Given the description of an element on the screen output the (x, y) to click on. 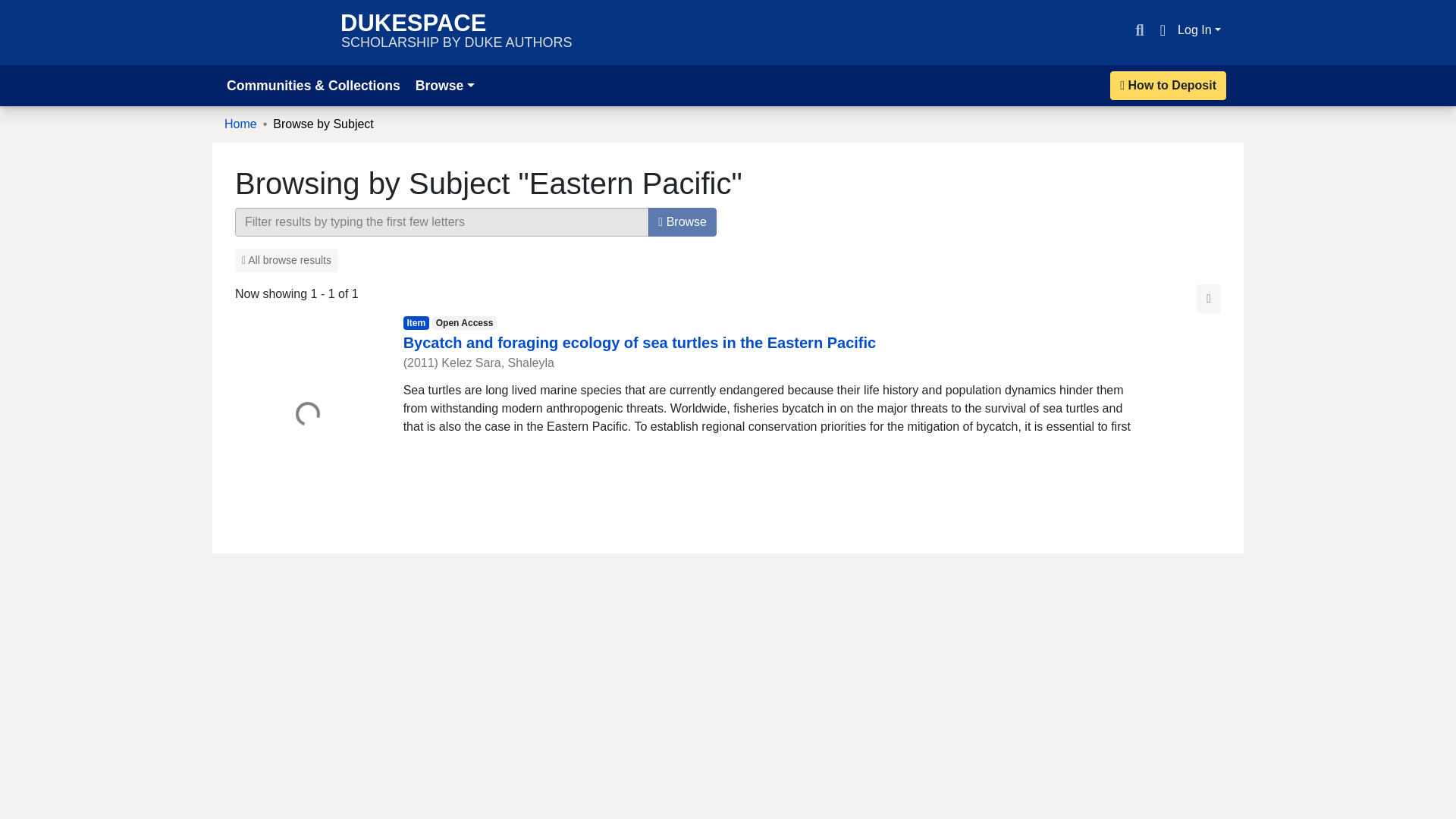
All browse results (285, 259)
Duke University Libraries (274, 32)
How to Deposit (1167, 85)
Browse (681, 222)
Search (1138, 30)
Language switch (456, 32)
Skip to Main Content (1162, 30)
Browse (18, 9)
Log In (444, 85)
Home (1199, 29)
